Given the description of an element on the screen output the (x, y) to click on. 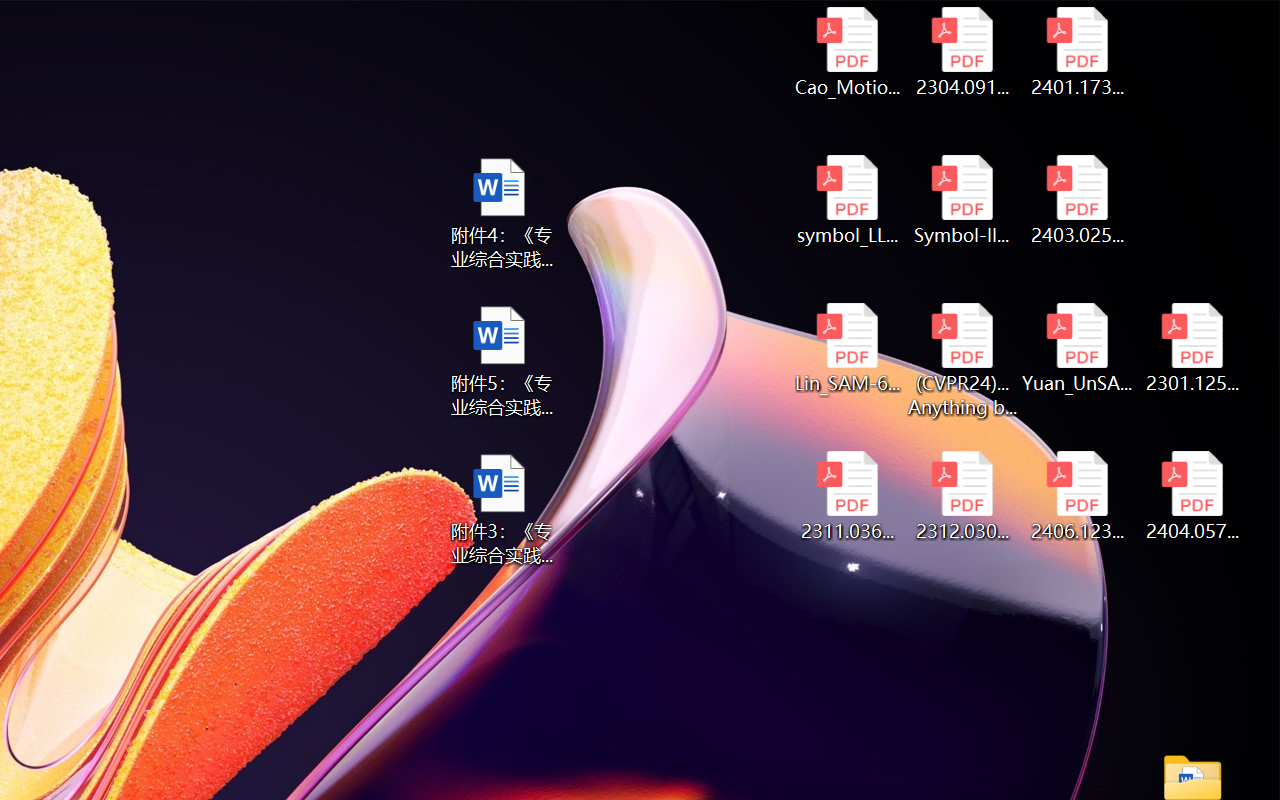
2304.09121v3.pdf (962, 52)
2401.17399v1.pdf (1077, 52)
